Given the description of an element on the screen output the (x, y) to click on. 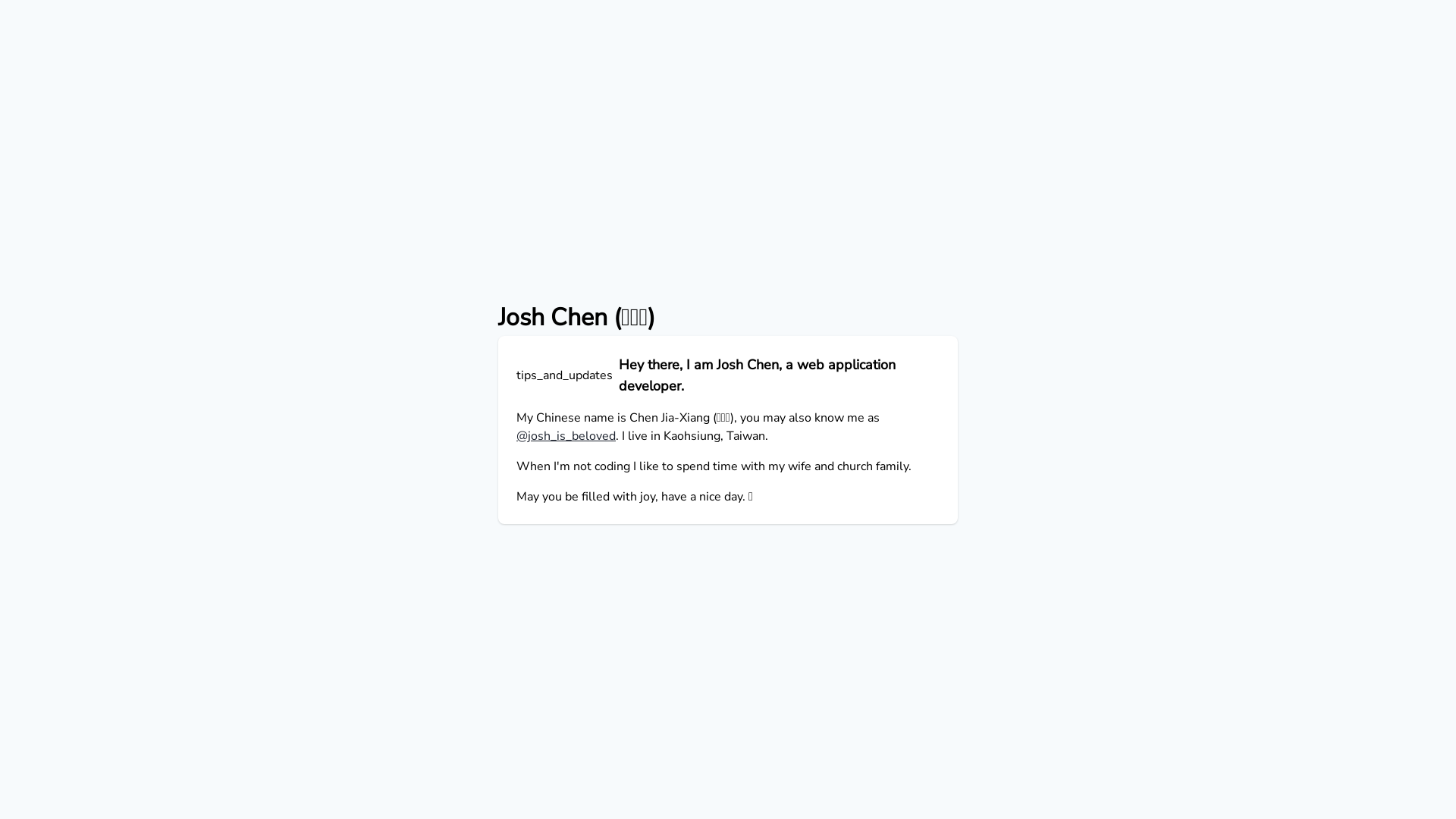
@josh_is_beloved Element type: text (565, 435)
